Given the description of an element on the screen output the (x, y) to click on. 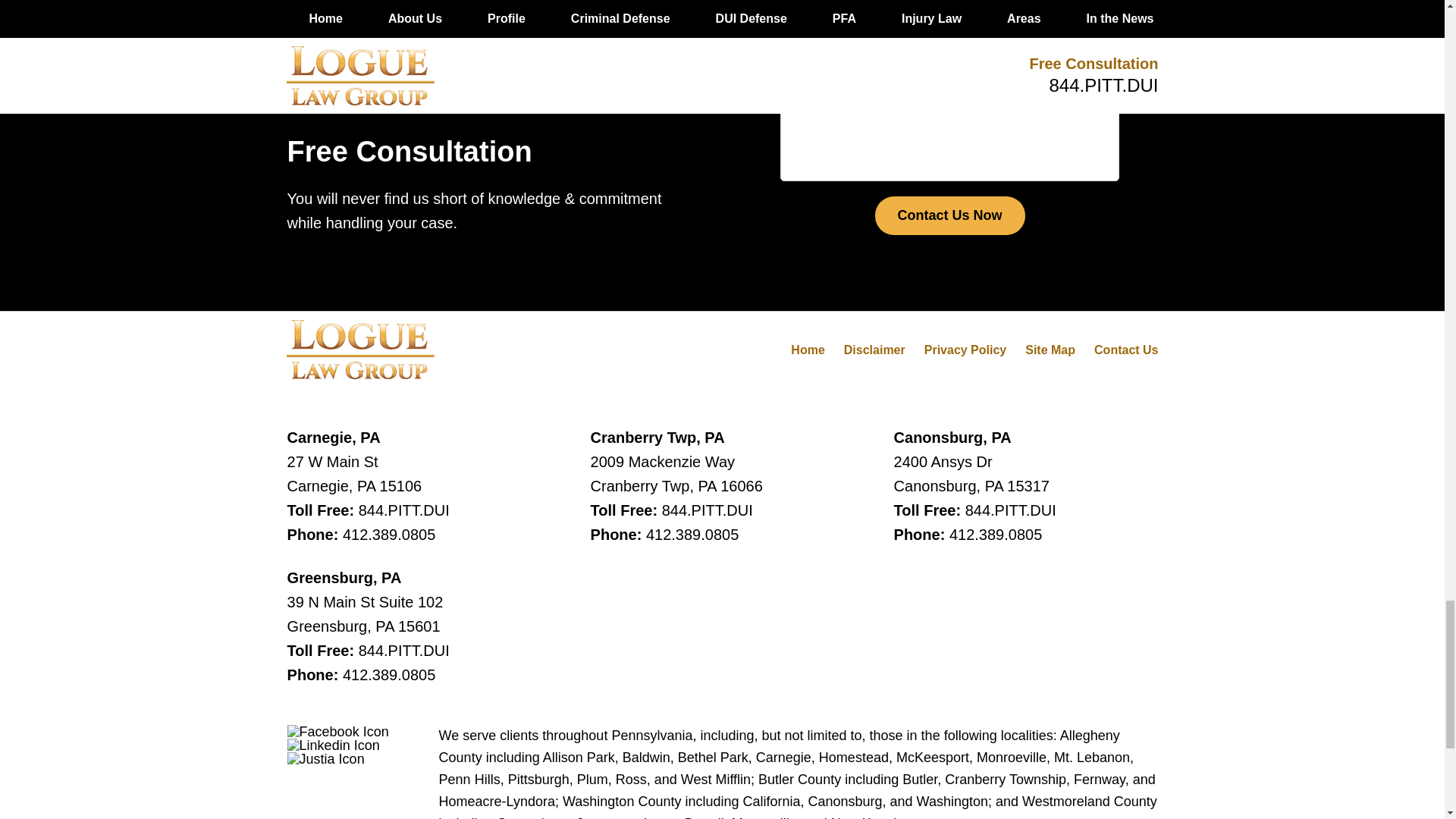
Contact Us Now (950, 215)
Linkedin (333, 745)
412.389.0805 (388, 534)
412.389.0805 (995, 534)
844.PITT.DUI (1011, 510)
844.PITT.DUI (403, 650)
412.389.0805 (692, 534)
Facebook (337, 731)
844.PITT.DUI (403, 510)
412.389.0805 (388, 674)
